Given the description of an element on the screen output the (x, y) to click on. 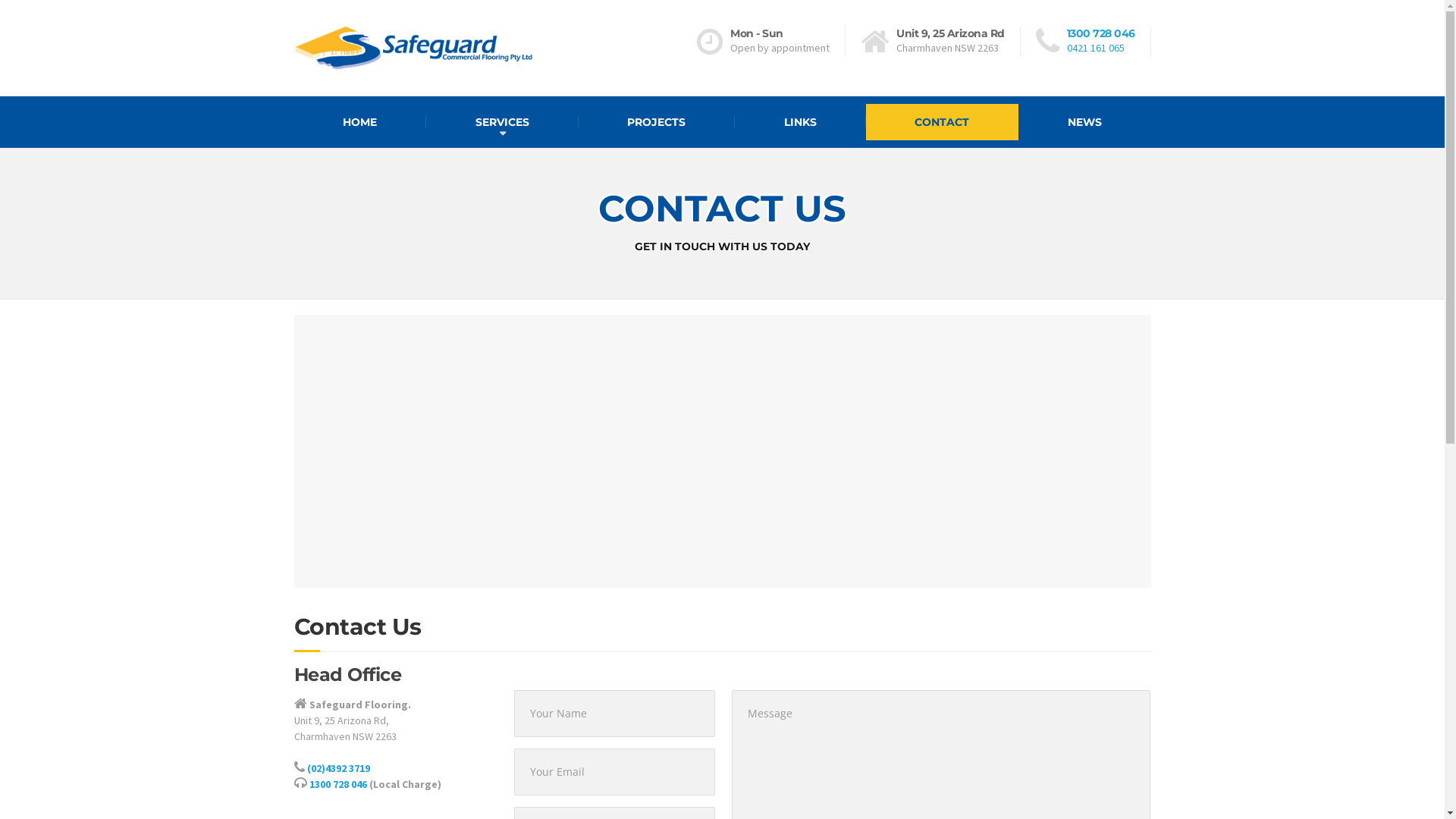
1300 728 046 Element type: text (1100, 33)
NEWS Element type: text (1084, 121)
PROJECTS Element type: text (655, 121)
CONTACT Element type: text (942, 121)
0421 161 065 Element type: text (1094, 47)
(02)4392 3719 Element type: text (337, 768)
SERVICES Element type: text (502, 121)
LINKS Element type: text (800, 121)
HOME Element type: text (360, 121)
1300 728 046 Element type: text (338, 783)
